Given the description of an element on the screen output the (x, y) to click on. 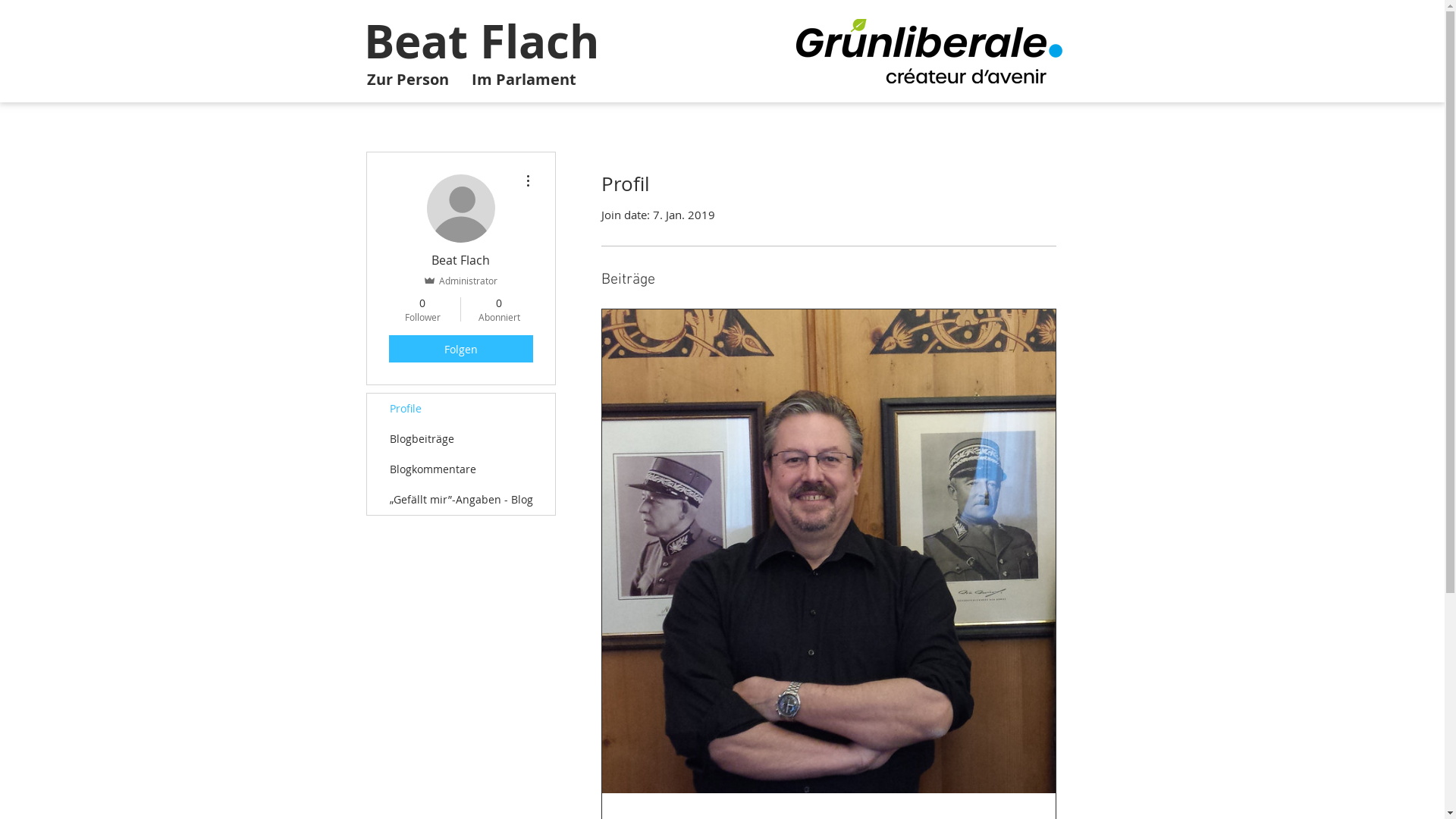
Blogkommentare Element type: text (461, 469)
Gruenliberale_Logo_RGB_Claim_pos_maennlich.png Element type: hover (929, 50)
Profile Element type: text (461, 408)
Folgen Element type: text (460, 348)
Beat Flach Element type: text (481, 40)
Im Parlament Element type: text (522, 79)
0
Abonniert Element type: text (499, 309)
0
Follower Element type: text (421, 309)
